Given the description of an element on the screen output the (x, y) to click on. 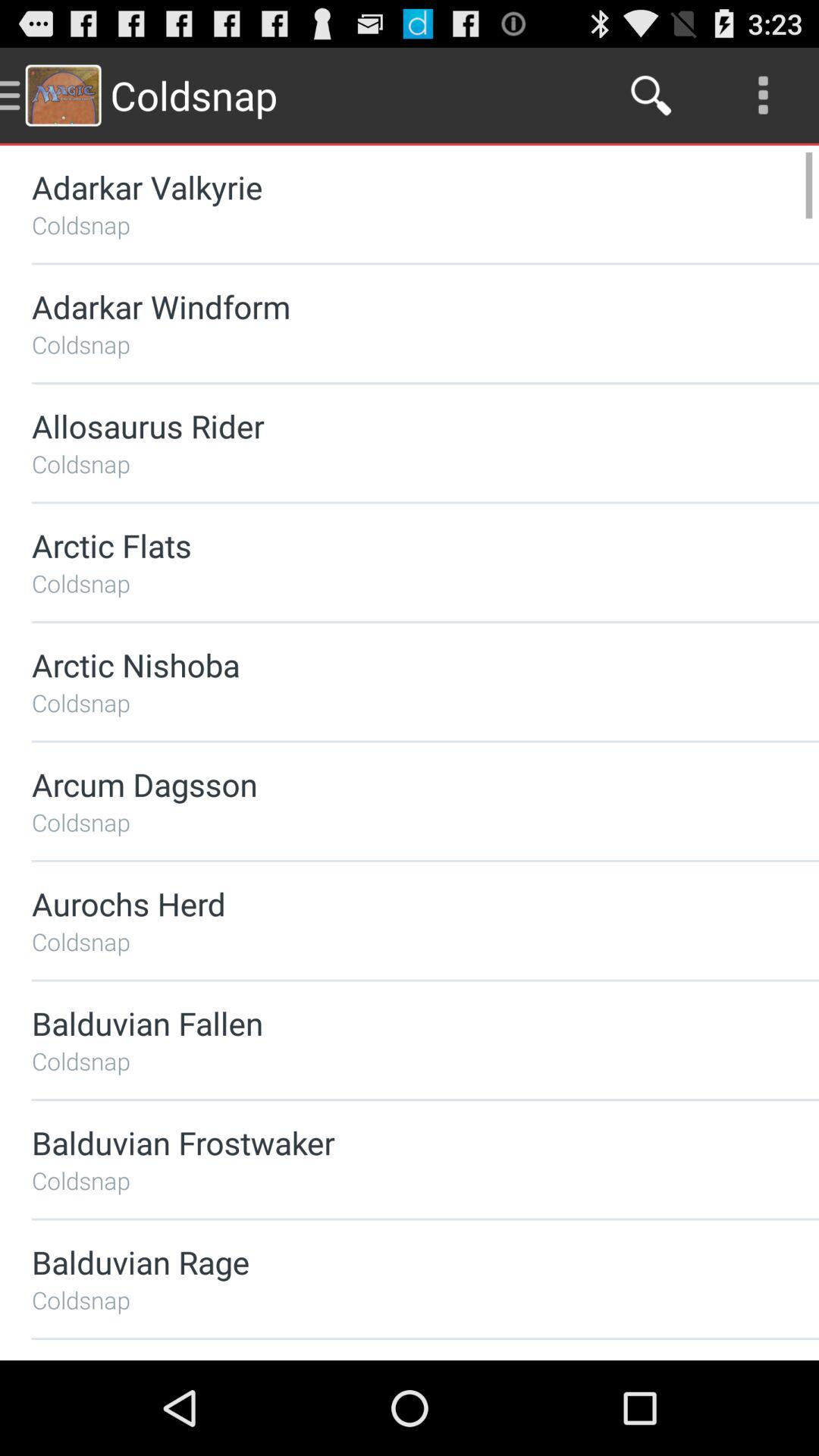
open balduvian rage app (385, 1261)
